Given the description of an element on the screen output the (x, y) to click on. 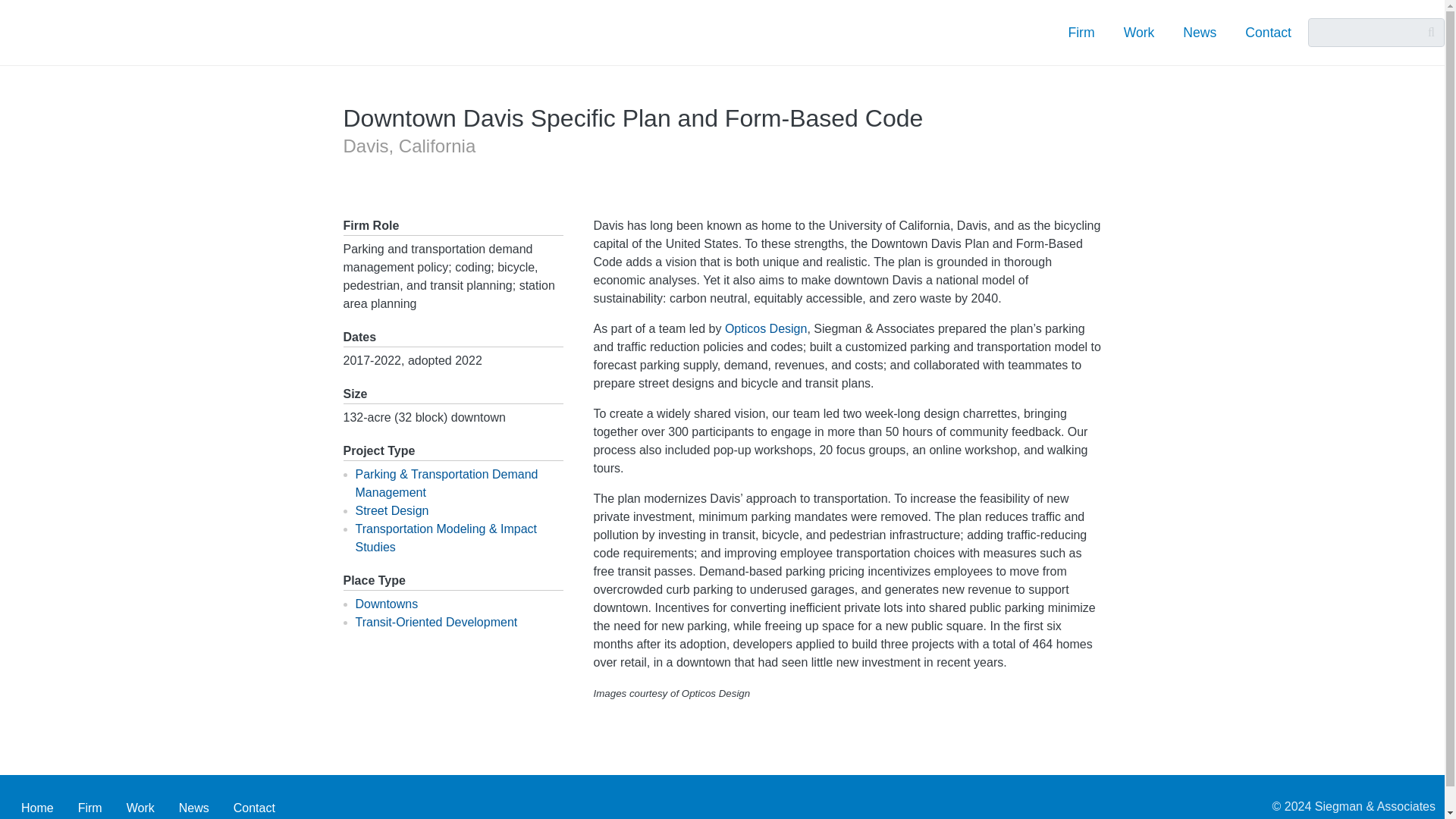
Downtowns (386, 603)
Opticos Design (766, 328)
Transit-Oriented Development (435, 621)
Work (1139, 32)
News (1199, 32)
Home (36, 806)
News (194, 806)
Firm (1080, 32)
Home (136, 32)
Firm (90, 806)
